Given the description of an element on the screen output the (x, y) to click on. 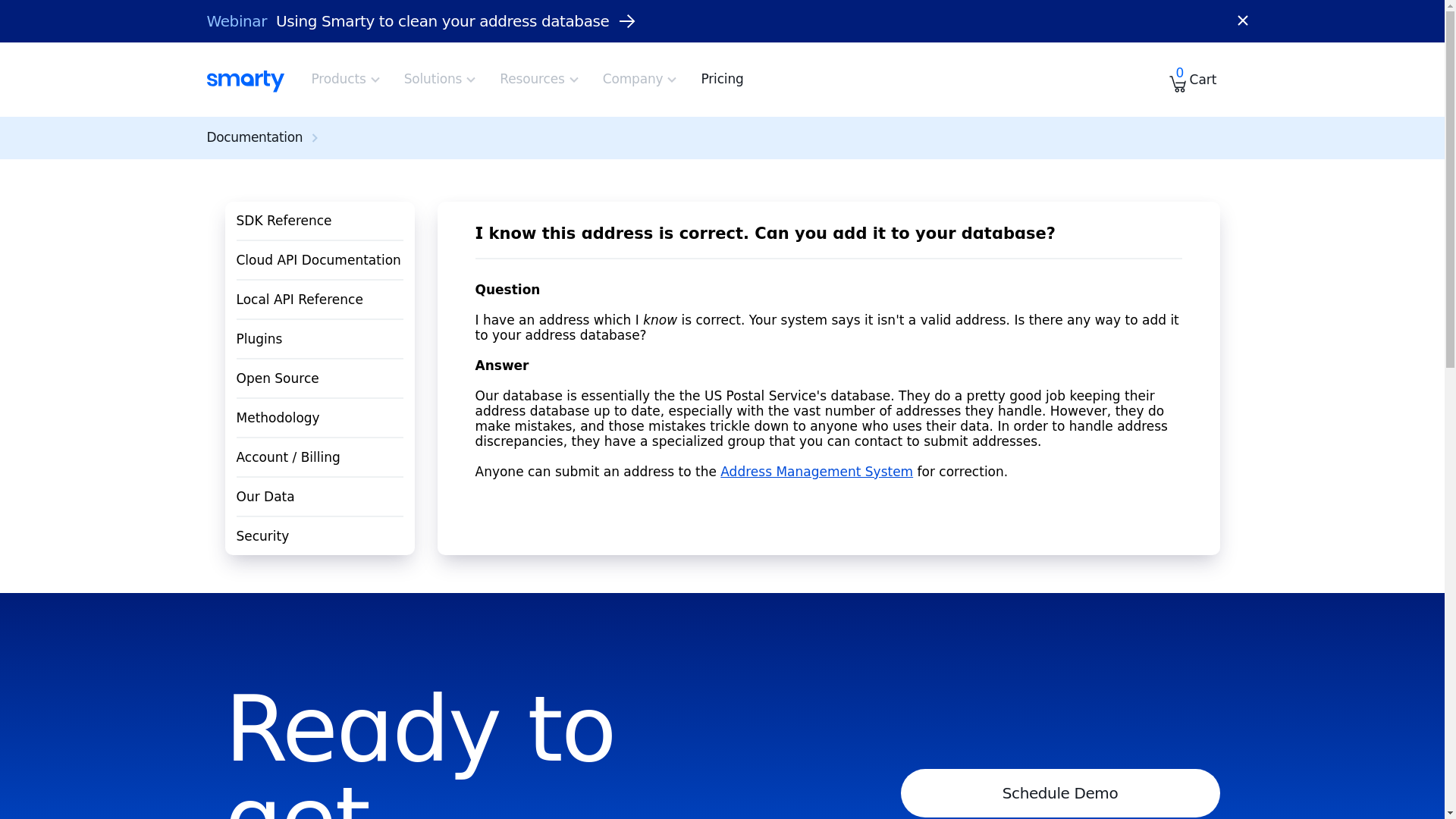
Button with an icon (1241, 21)
Using Smarty to clean your address database (456, 21)
Resources (539, 79)
Products (345, 79)
Solutions (440, 79)
